Given the description of an element on the screen output the (x, y) to click on. 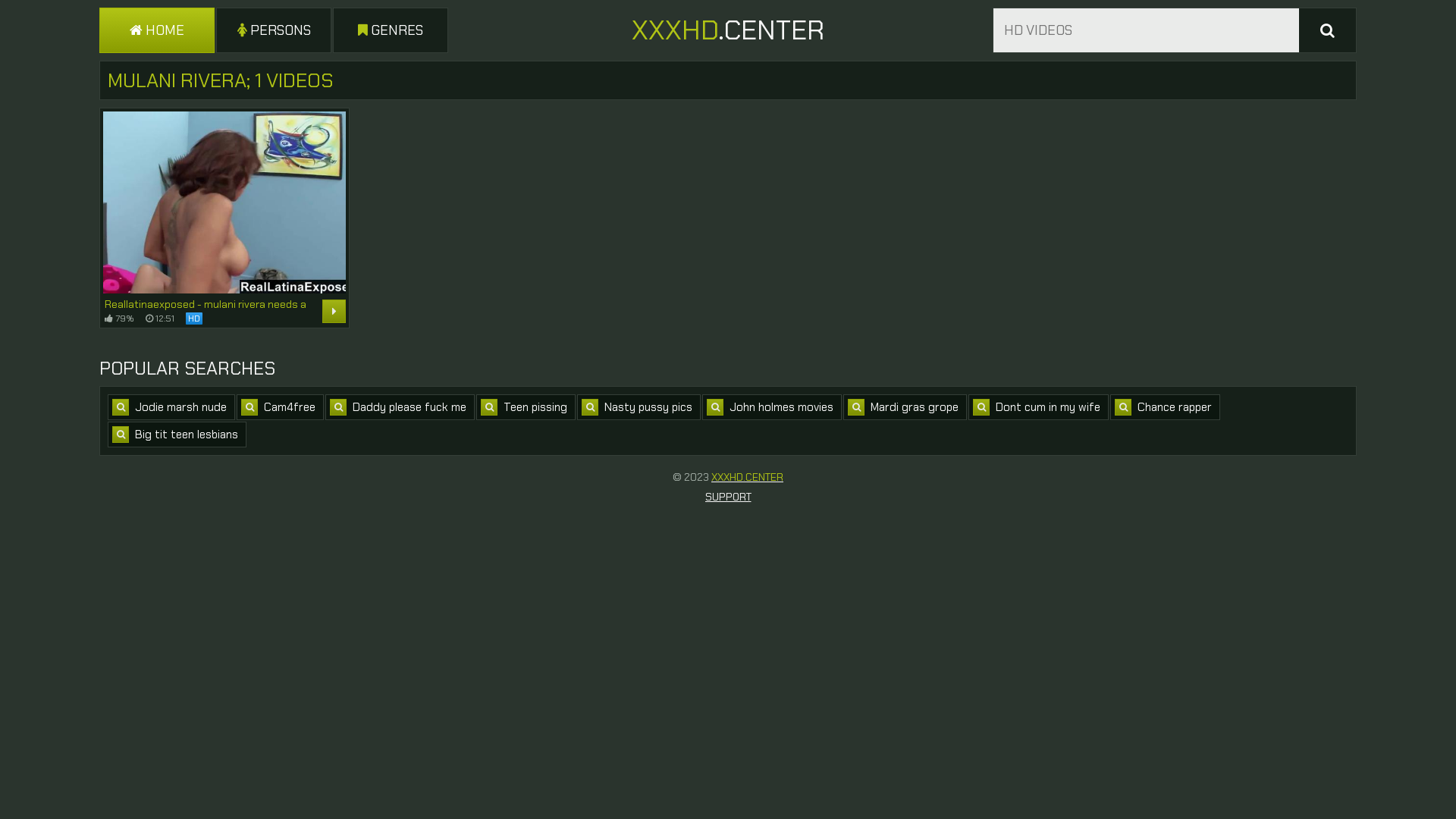
Big tit teen lesbians Element type: text (176, 434)
Chance rapper Element type: text (1165, 407)
John holmes movies Element type: text (771, 407)
Teen pissing Element type: text (525, 407)
Daddy please fuck me Element type: text (399, 407)
PERSONS Element type: text (273, 30)
XXXHD.CENTER Element type: text (727, 30)
SUPPORT Element type: text (728, 496)
XXXHD.CENTER Element type: text (747, 476)
Dont cum in my wife Element type: text (1038, 407)
Find Element type: hover (1327, 30)
Nasty pussy pics Element type: text (638, 407)
HOME Element type: text (156, 30)
Jodie marsh nude Element type: text (171, 407)
GENRES Element type: text (390, 30)
Cam4free Element type: text (279, 407)
Mardi gras grope Element type: text (904, 407)
